Given the description of an element on the screen output the (x, y) to click on. 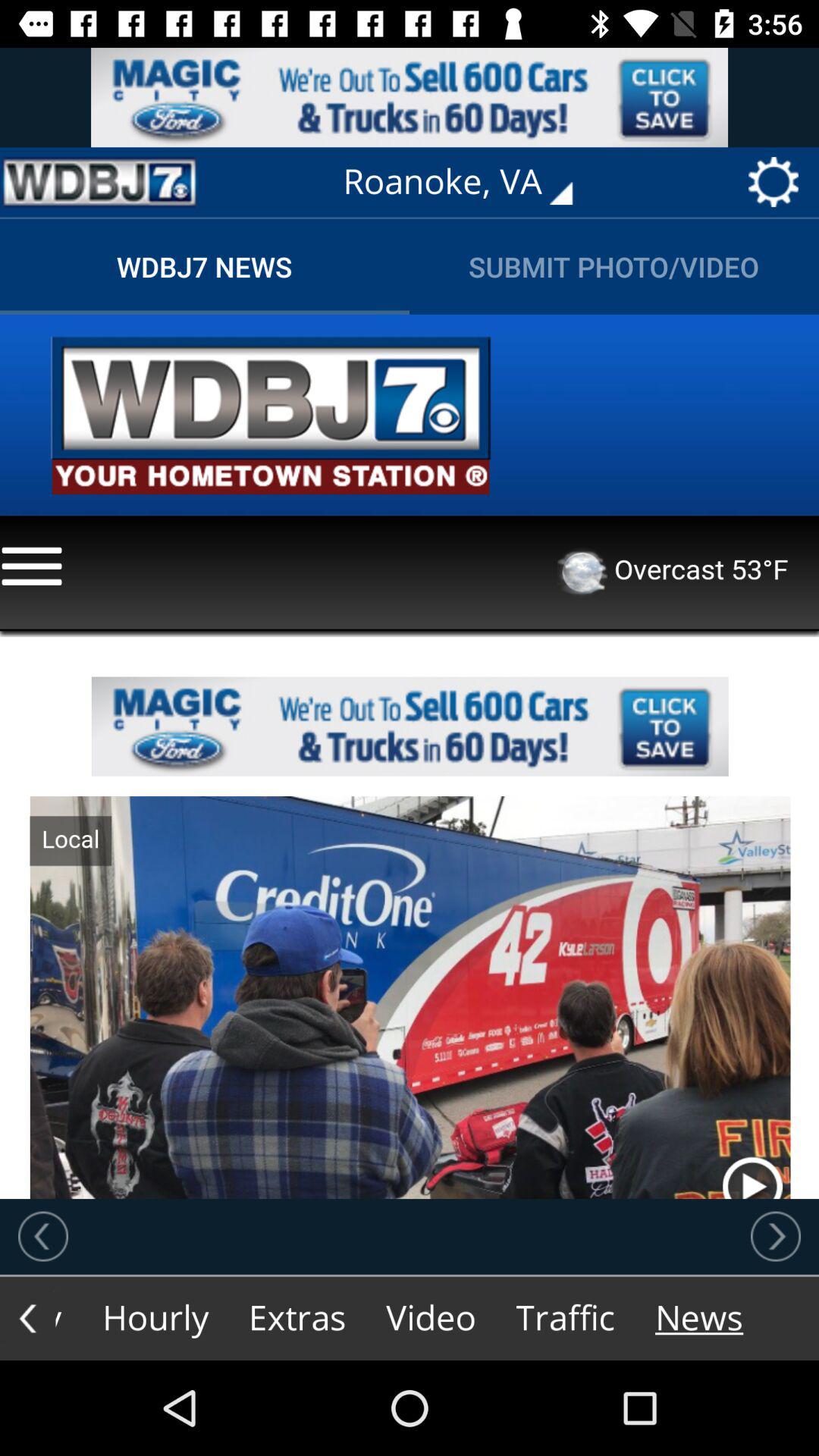
goto next (775, 1236)
